Given the description of an element on the screen output the (x, y) to click on. 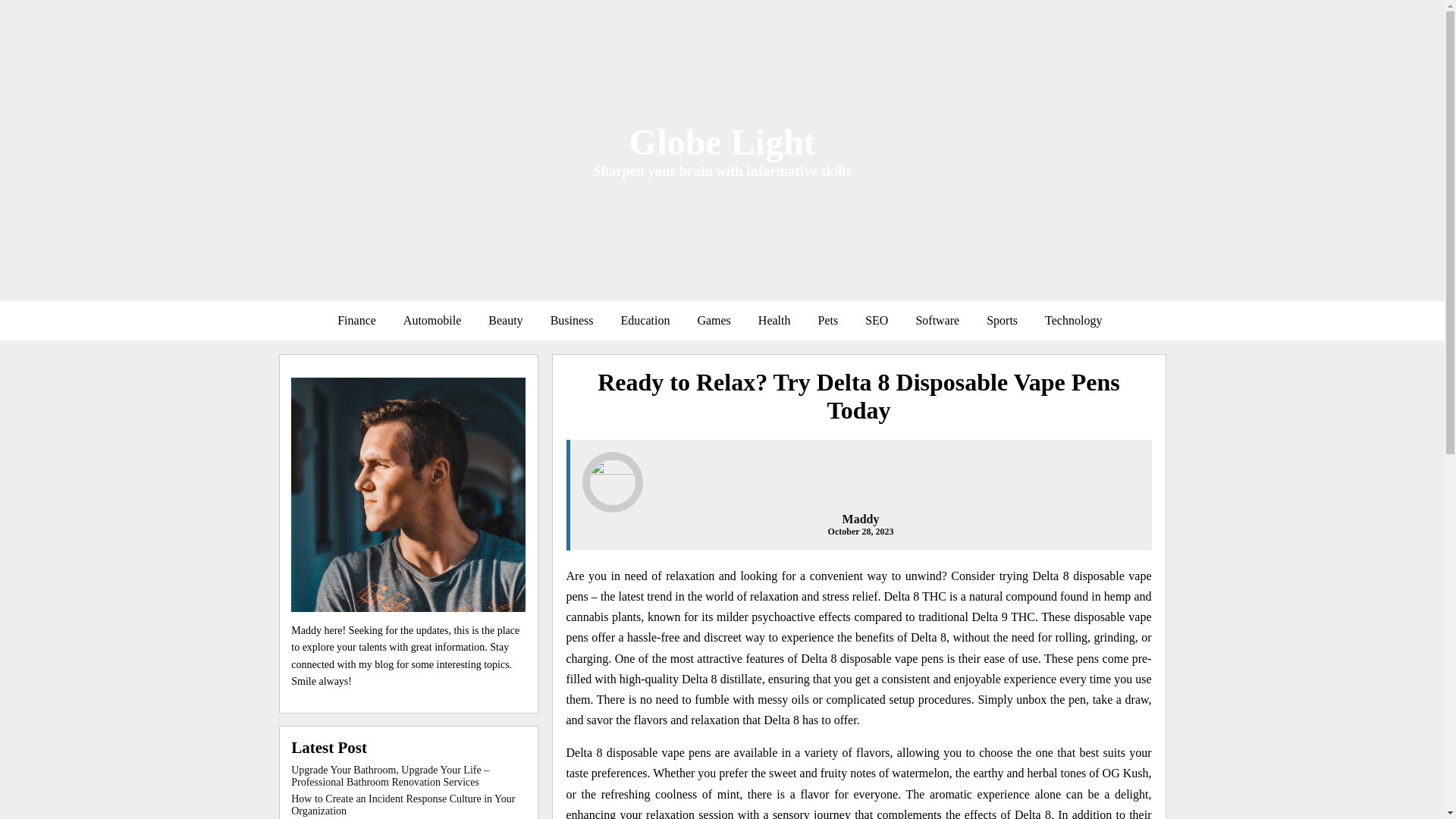
Education (645, 320)
SEO (876, 320)
Games (713, 320)
Automobile (432, 320)
Beauty (505, 320)
Pets (827, 320)
Technology (1072, 320)
Finance (356, 320)
Maddy (861, 518)
Business (571, 320)
11:36 am (860, 531)
View all posts by Maddy (861, 518)
October 28, 2023 (860, 531)
Software (936, 320)
